Given the description of an element on the screen output the (x, y) to click on. 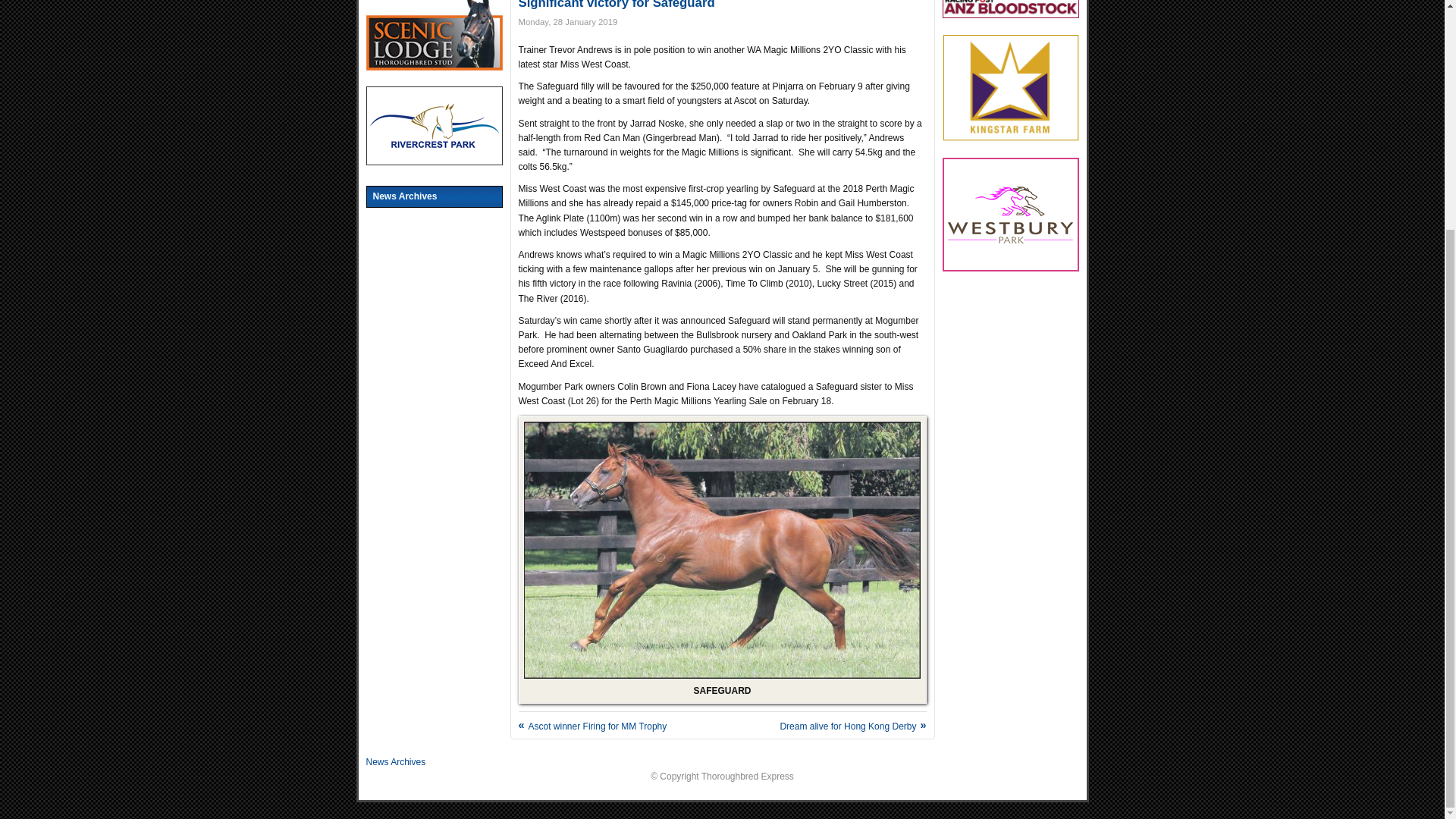
News Archives (395, 761)
News Archives (433, 196)
